Given the description of an element on the screen output the (x, y) to click on. 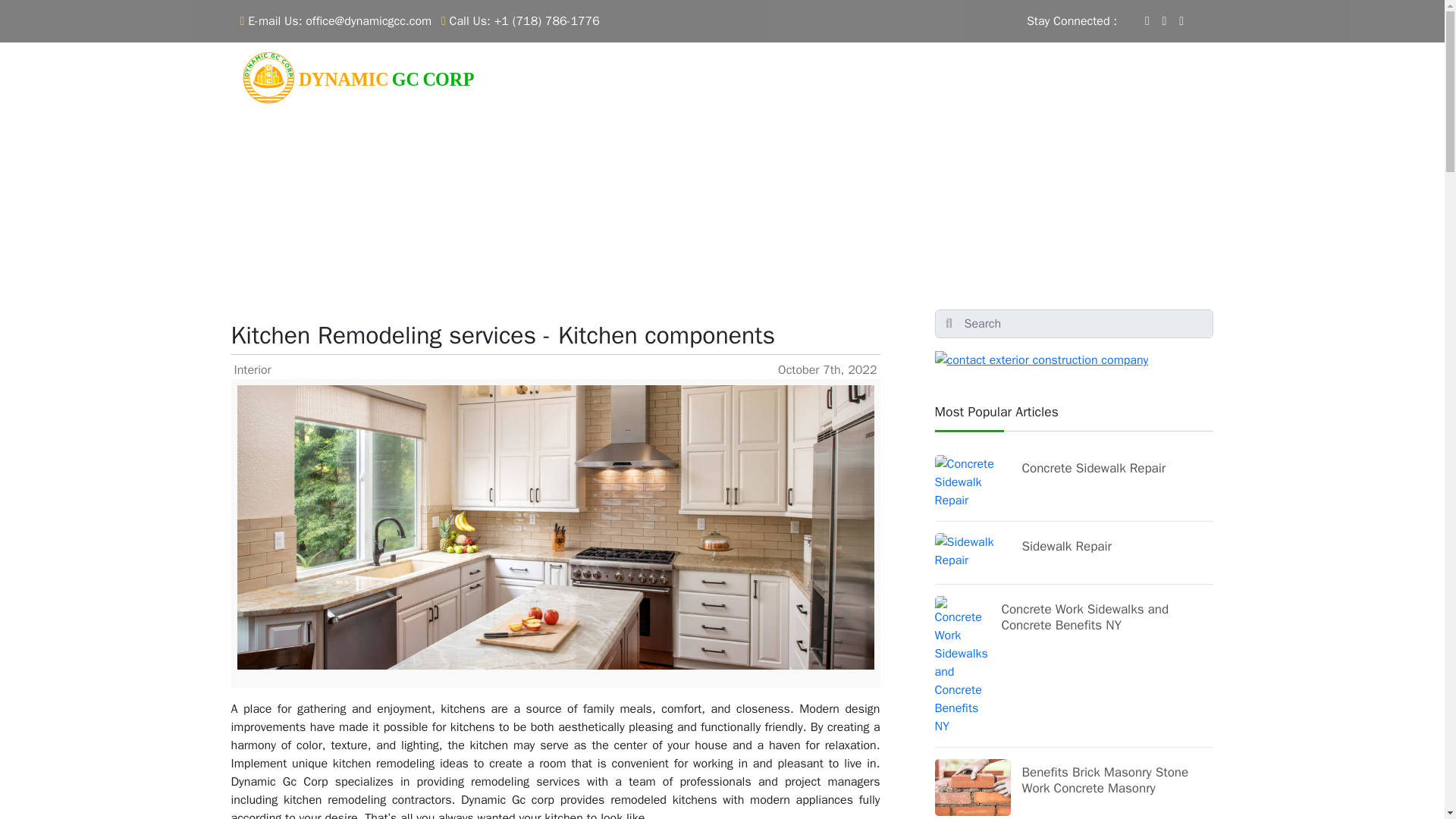
COMPANY (830, 81)
ARTICLES (1110, 81)
HOME (775, 81)
PROJECTS (976, 81)
CONTACT (1173, 81)
SERVICES (903, 81)
FEEDBACK (1044, 81)
